Given the description of an element on the screen output the (x, y) to click on. 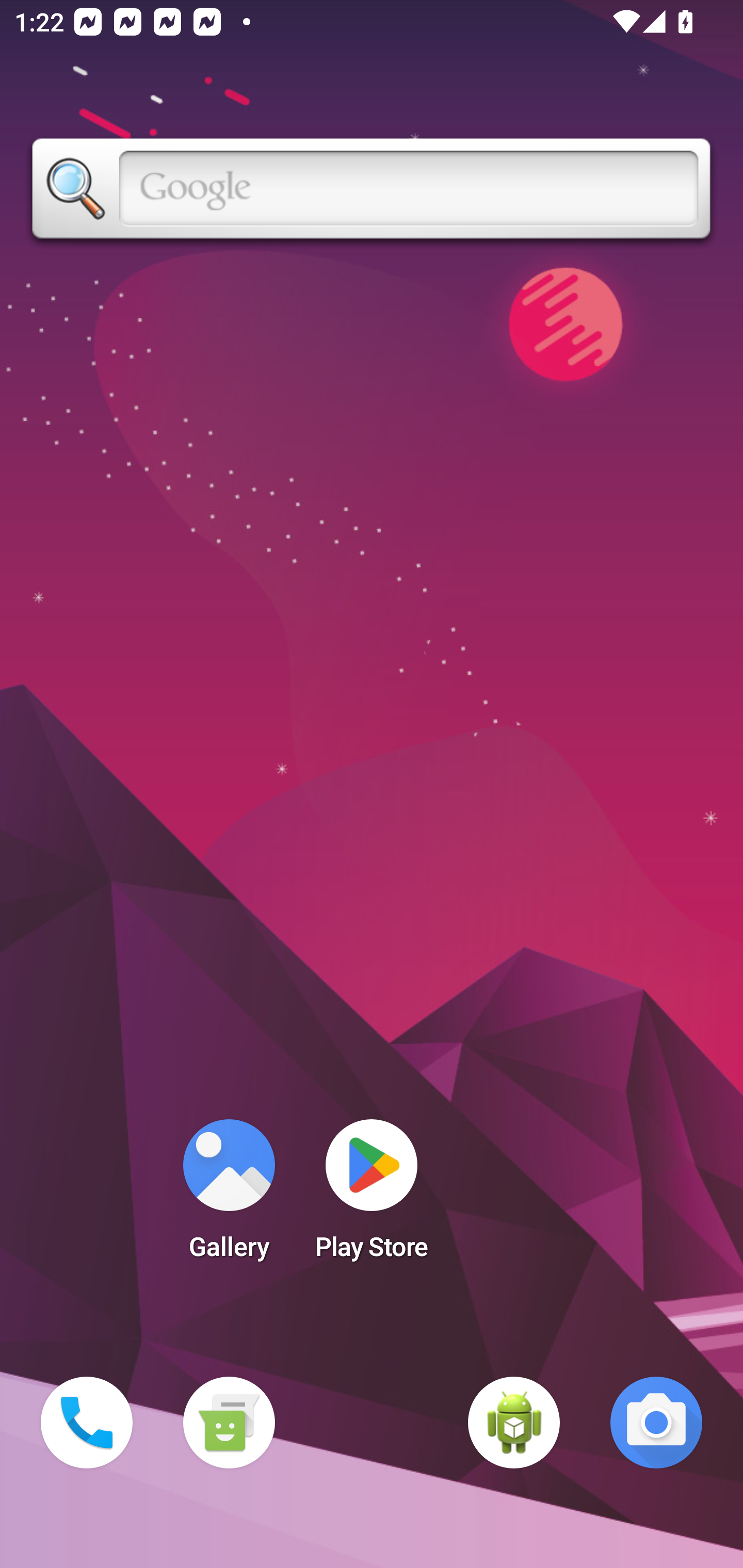
Gallery (228, 1195)
Play Store (371, 1195)
Phone (86, 1422)
Messaging (228, 1422)
WebView Browser Tester (513, 1422)
Camera (656, 1422)
